Given the description of an element on the screen output the (x, y) to click on. 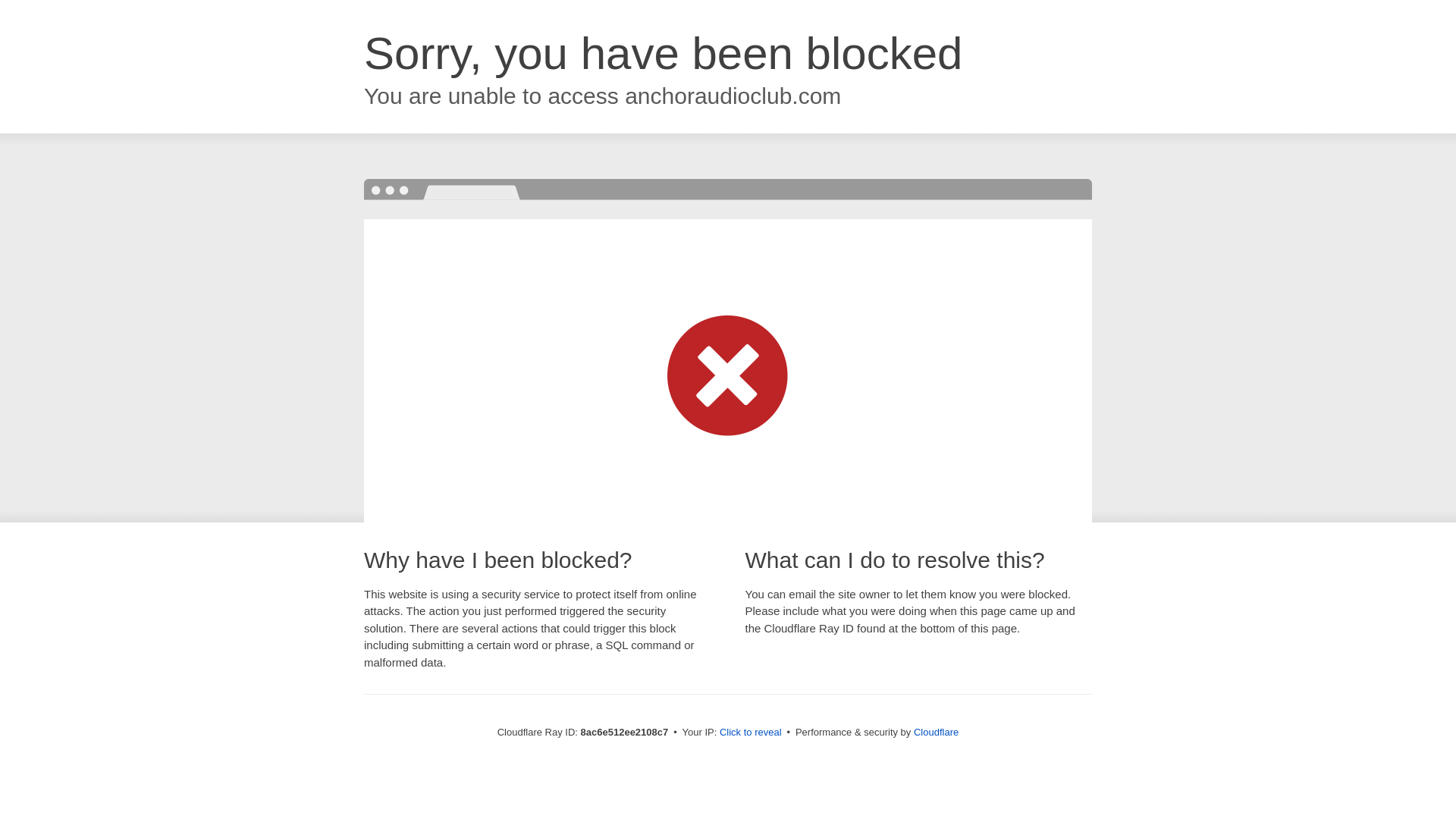
Click to reveal (750, 732)
Cloudflare (936, 731)
